Given the description of an element on the screen output the (x, y) to click on. 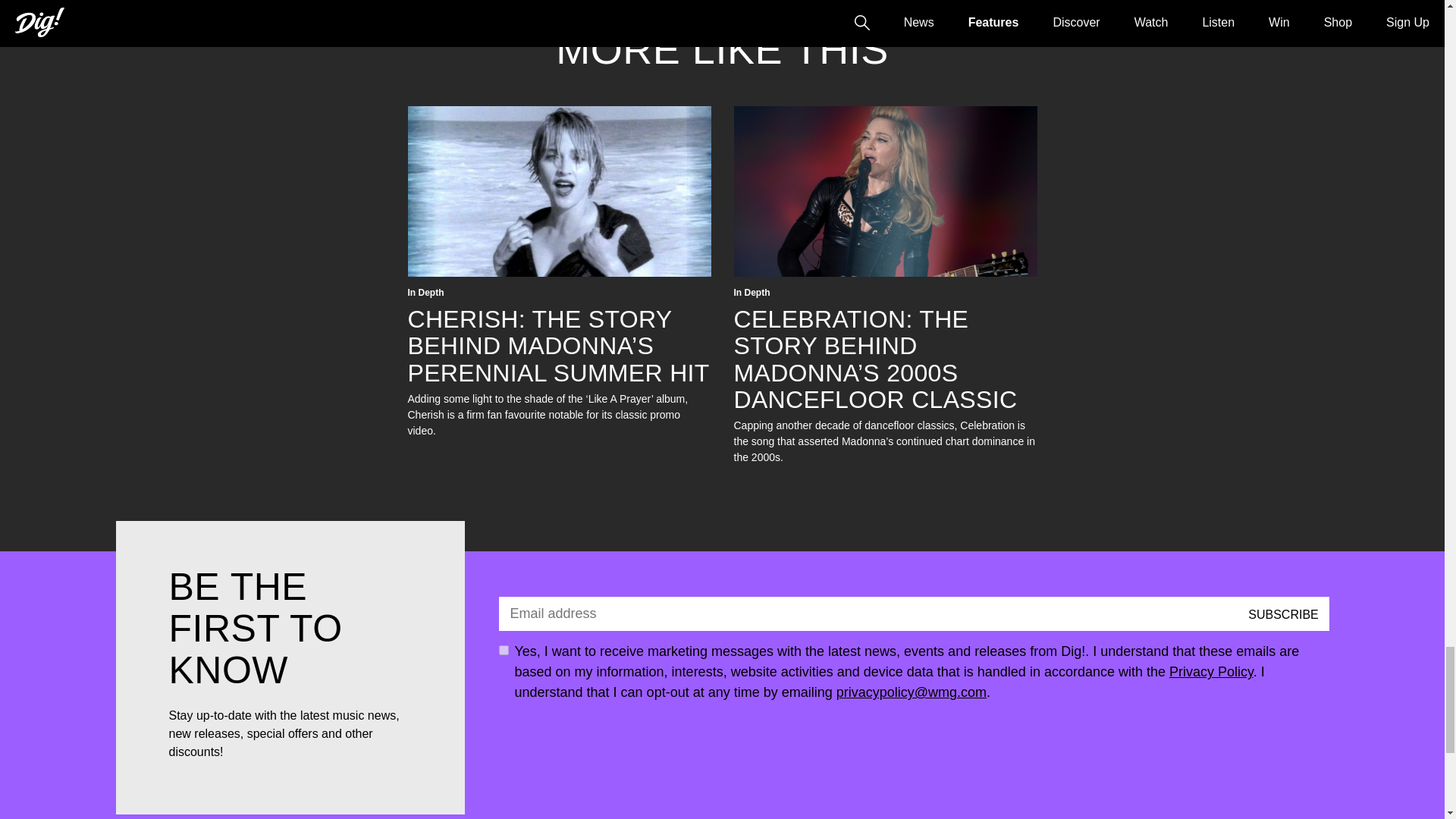
agree (503, 650)
Subscribe (1282, 613)
